Given the description of an element on the screen output the (x, y) to click on. 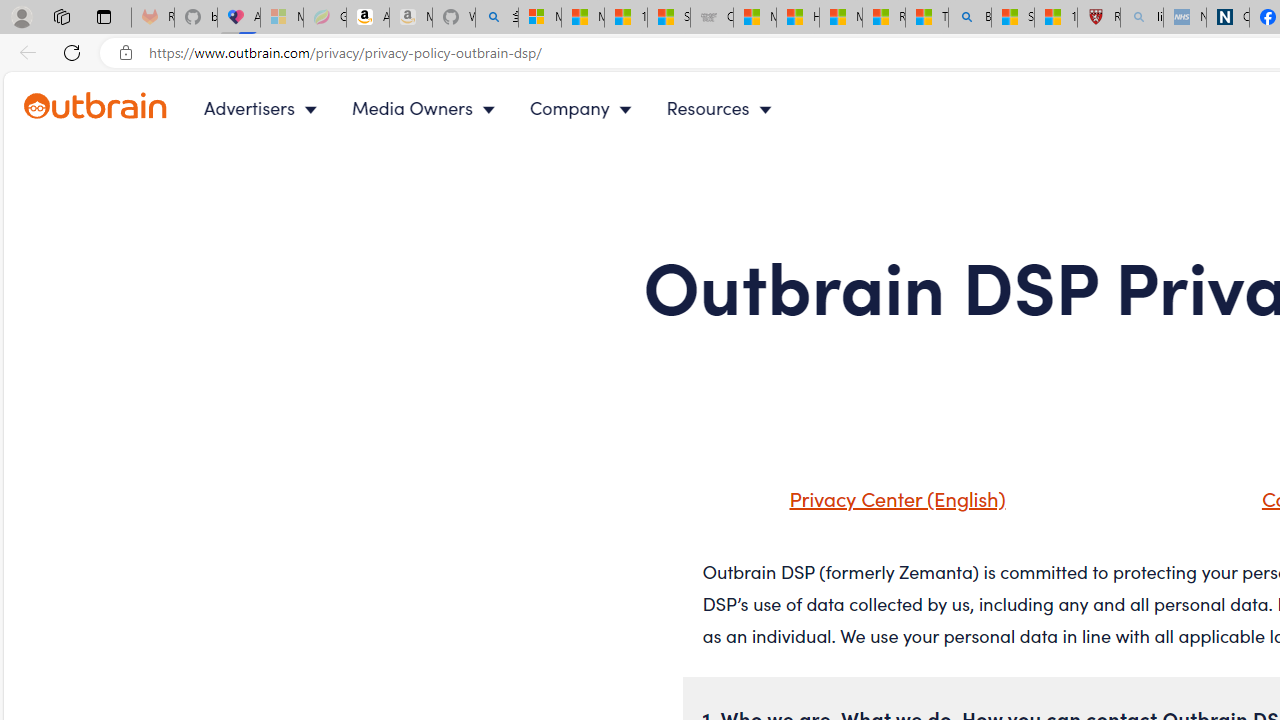
Combat Siege (712, 17)
Privacy Center (English) (892, 497)
Main Navigation (504, 107)
Bing (969, 17)
